Given the description of an element on the screen output the (x, y) to click on. 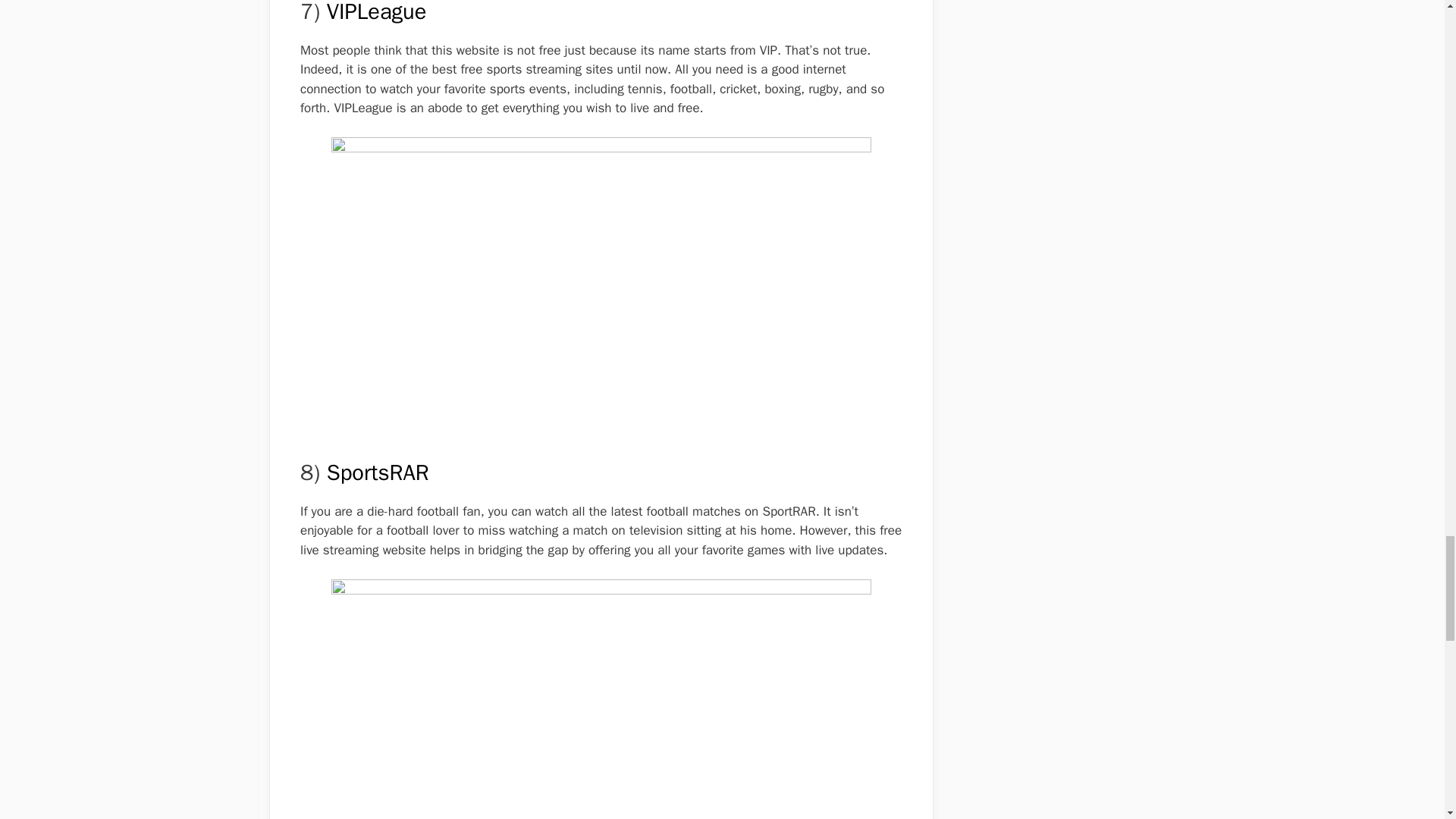
SportsRAR (377, 472)
VIPLeague (376, 12)
